Given the description of an element on the screen output the (x, y) to click on. 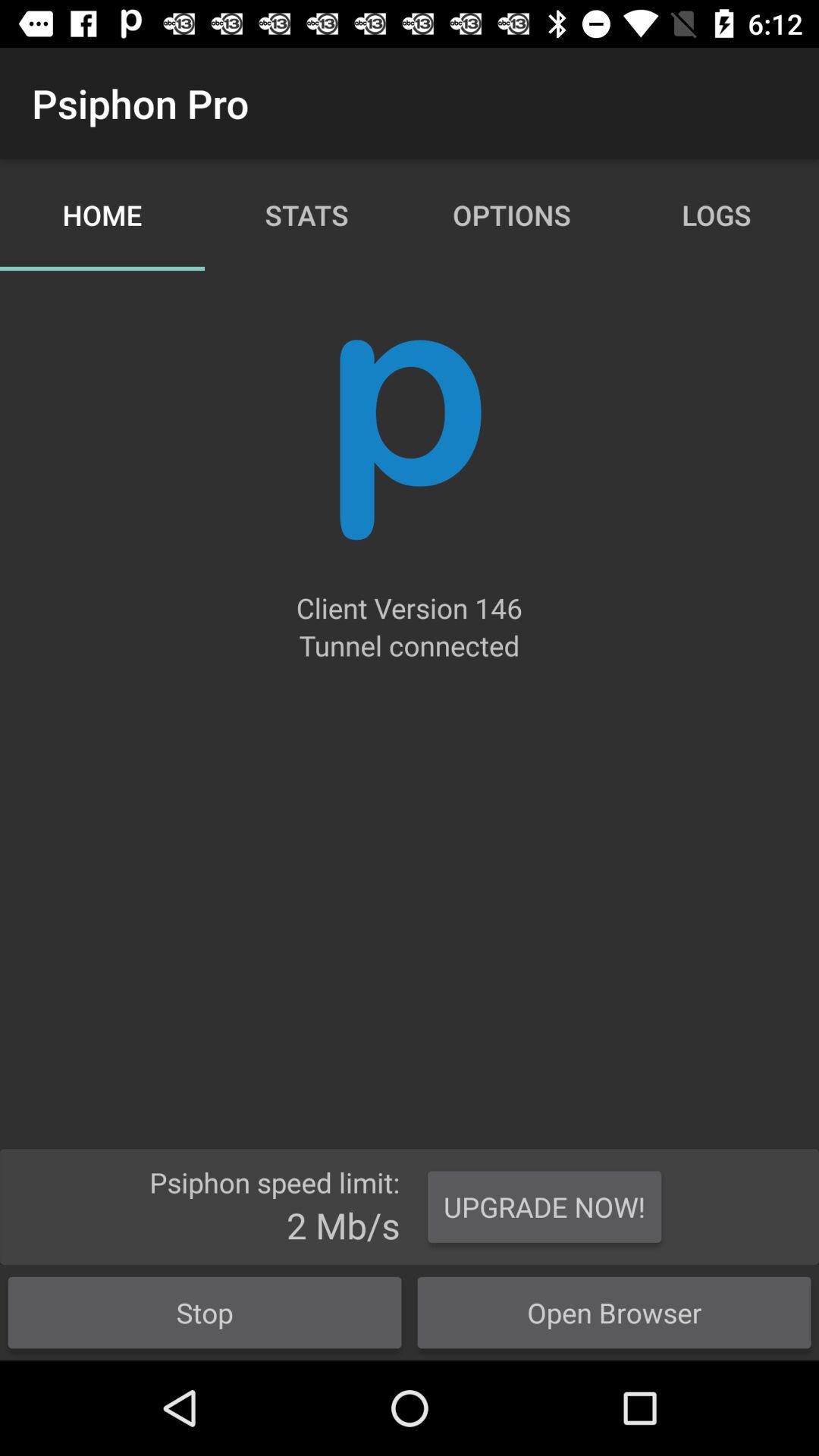
choose stop item (204, 1312)
